Given the description of an element on the screen output the (x, y) to click on. 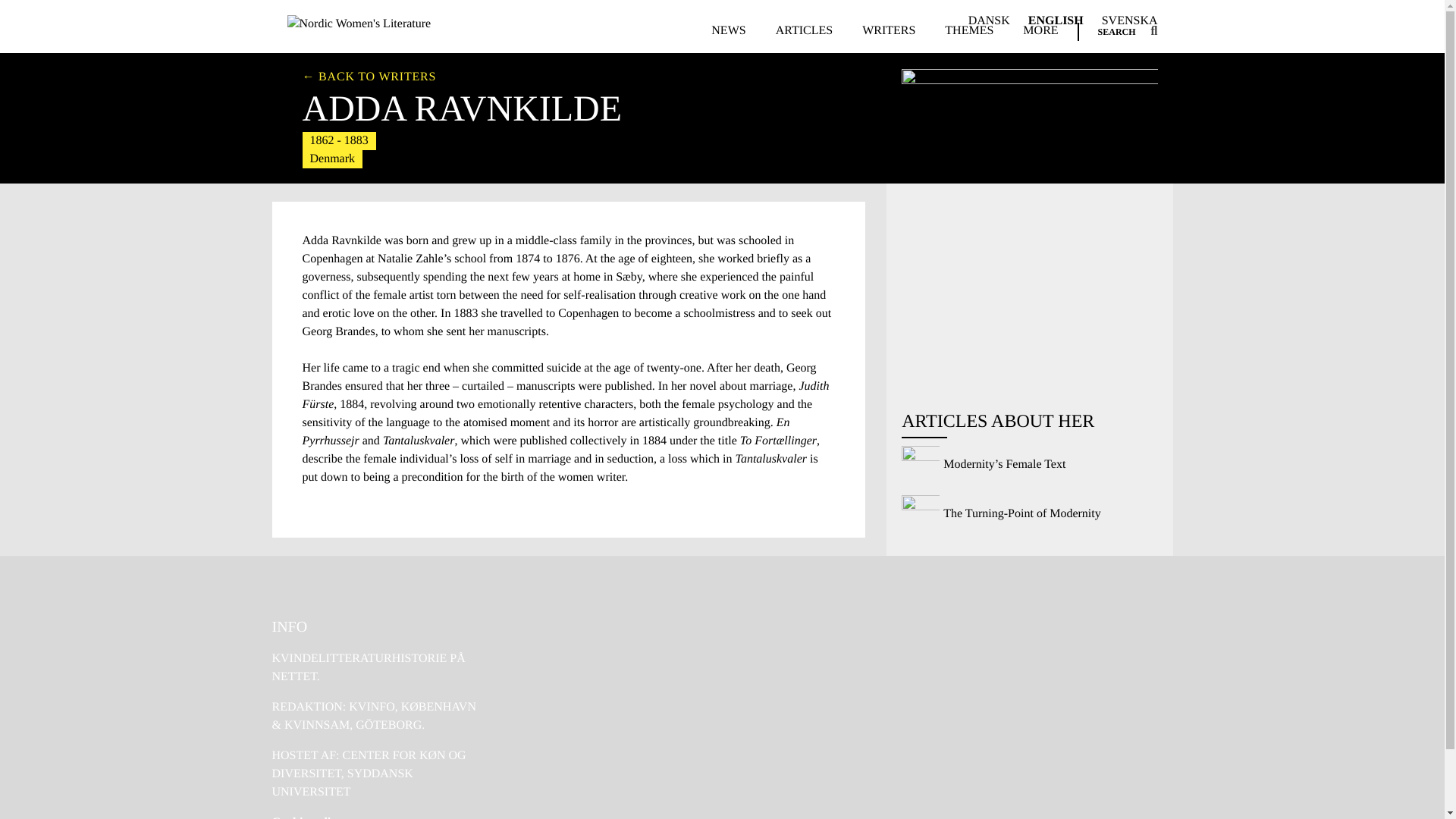
DANSK (989, 21)
The Turning-Point of Modernity (1029, 514)
WRITERS (888, 35)
ENGLISH (1055, 21)
SVENSKA (1129, 21)
THEMES (968, 35)
MORE (1040, 35)
ARTICLES (804, 35)
Cookie policy (306, 817)
NEWS (728, 35)
